Given the description of an element on the screen output the (x, y) to click on. 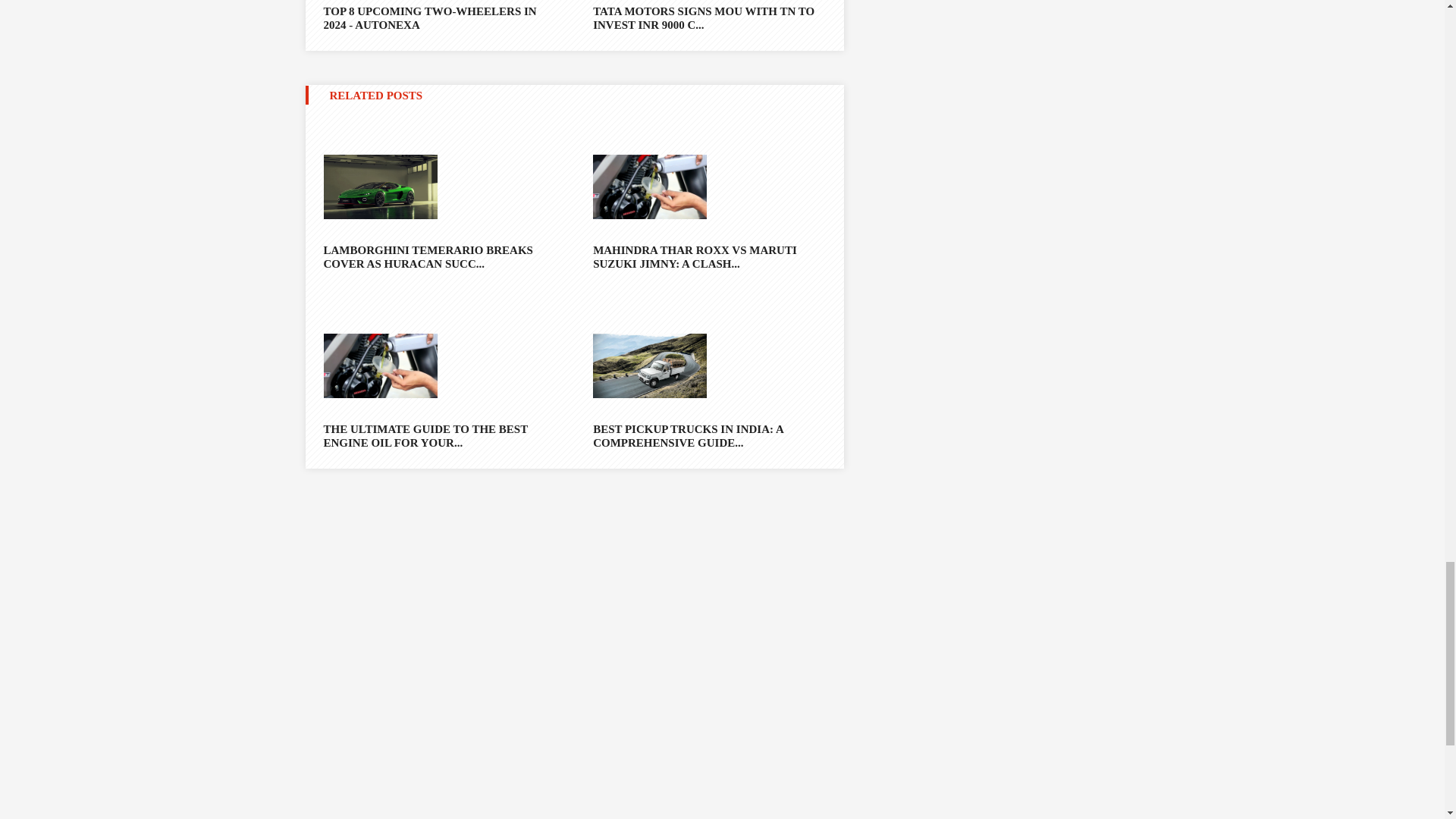
TOP 8 UPCOMING TWO-WHEELERS IN 2024 - AUTONEXA (438, 15)
MAHINDRA THAR ROXX VS MARUTI SUZUKI JIMNY: A CLASH... (708, 257)
BEST PICKUP TRUCKS IN INDIA: A COMPREHENSIVE GUIDE... (708, 435)
THE ULTIMATE GUIDE TO THE BEST ENGINE OIL FOR YOUR... (438, 435)
LAMBORGHINI TEMERARIO BREAKS COVER AS HURACAN SUCC... (438, 257)
TATA MOTORS SIGNS MOU WITH TN TO INVEST INR 9000 C... (708, 15)
